Given the description of an element on the screen output the (x, y) to click on. 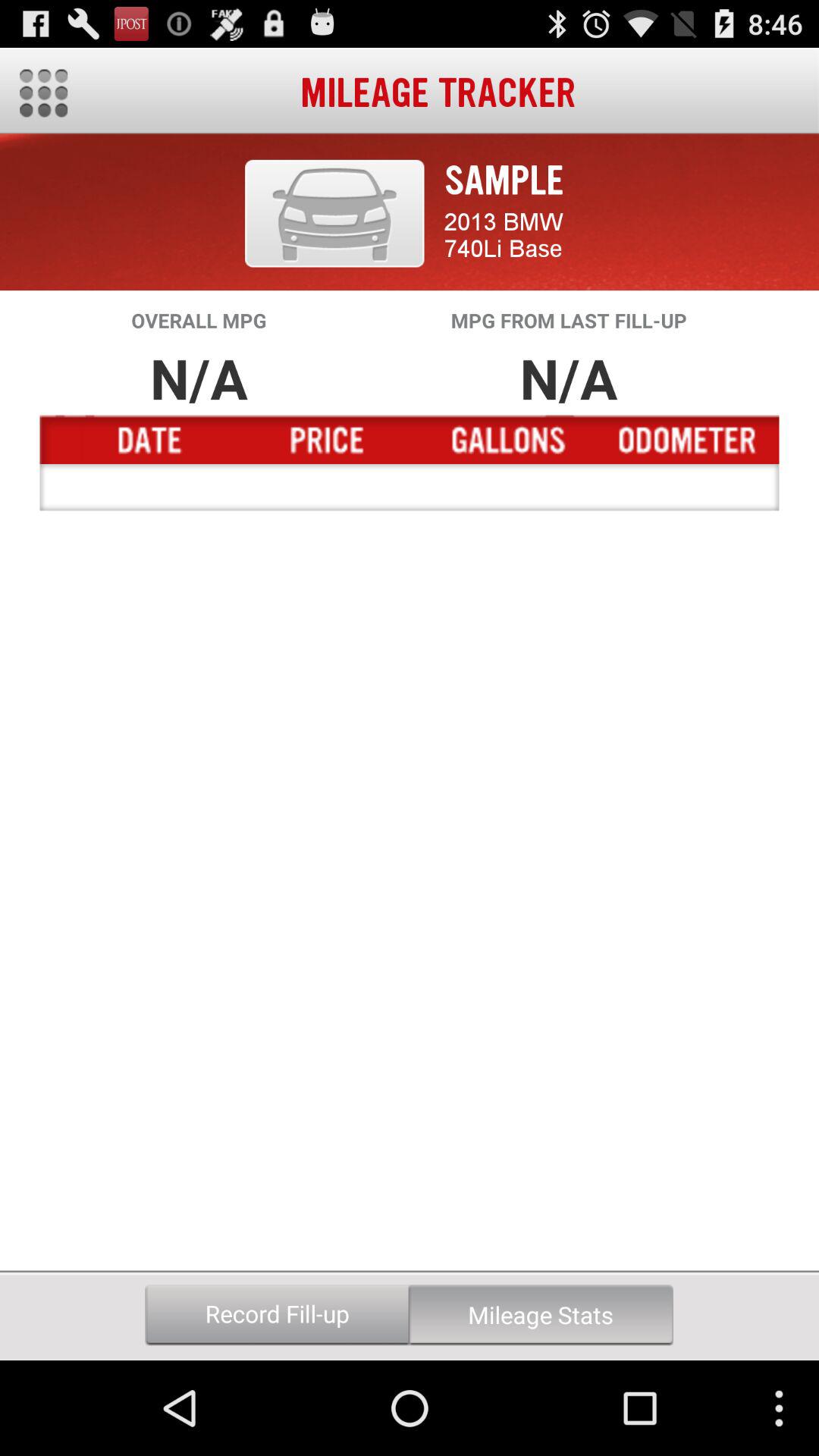
view menu (43, 93)
